Given the description of an element on the screen output the (x, y) to click on. 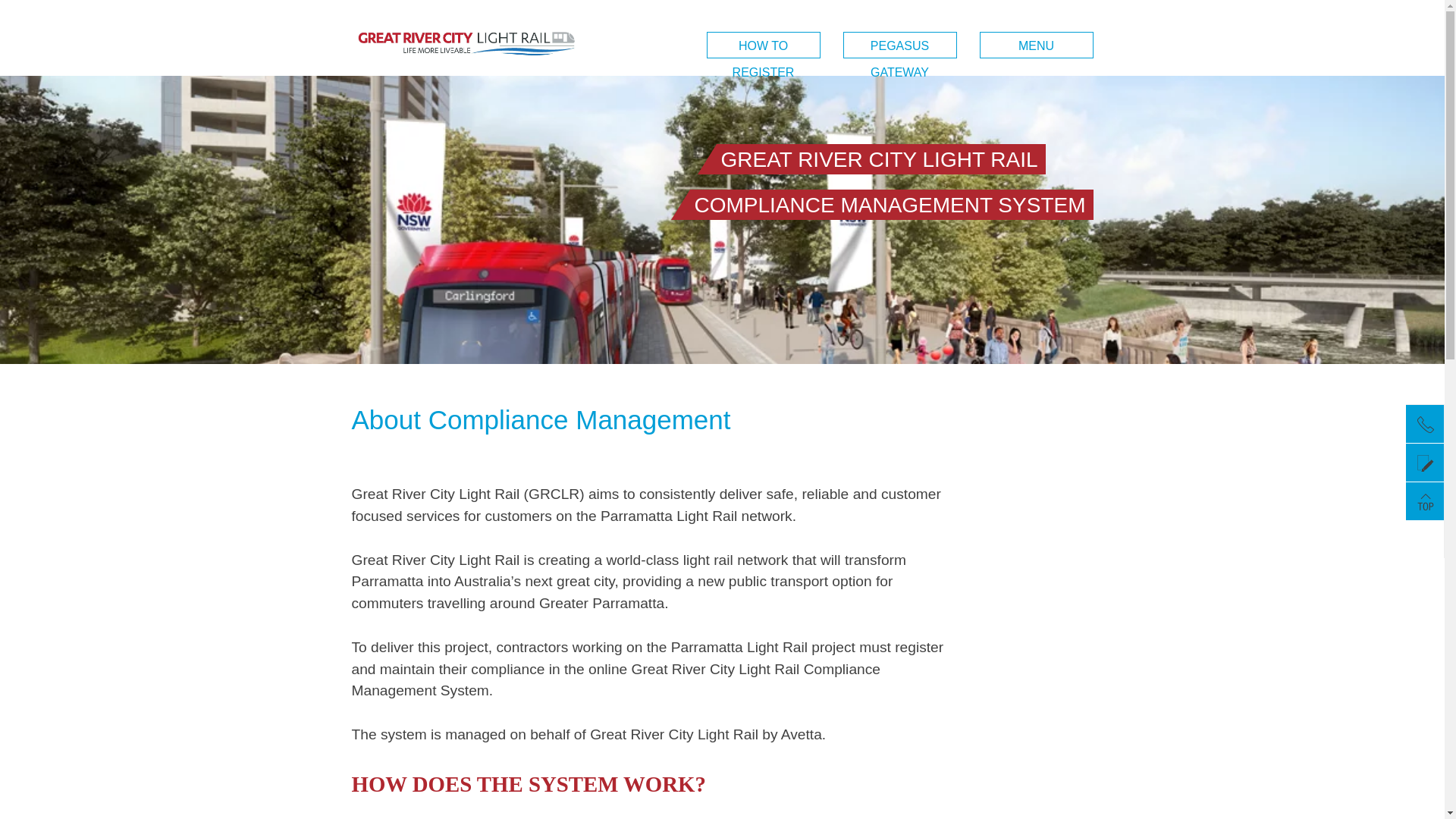
HOW TO REGISTER Element type: text (763, 44)
MENU Element type: text (1036, 44)
PEGASUS GATEWAY Element type: text (900, 44)
Great River City Light Rail Compliance Management Element type: text (465, 73)
